Given the description of an element on the screen output the (x, y) to click on. 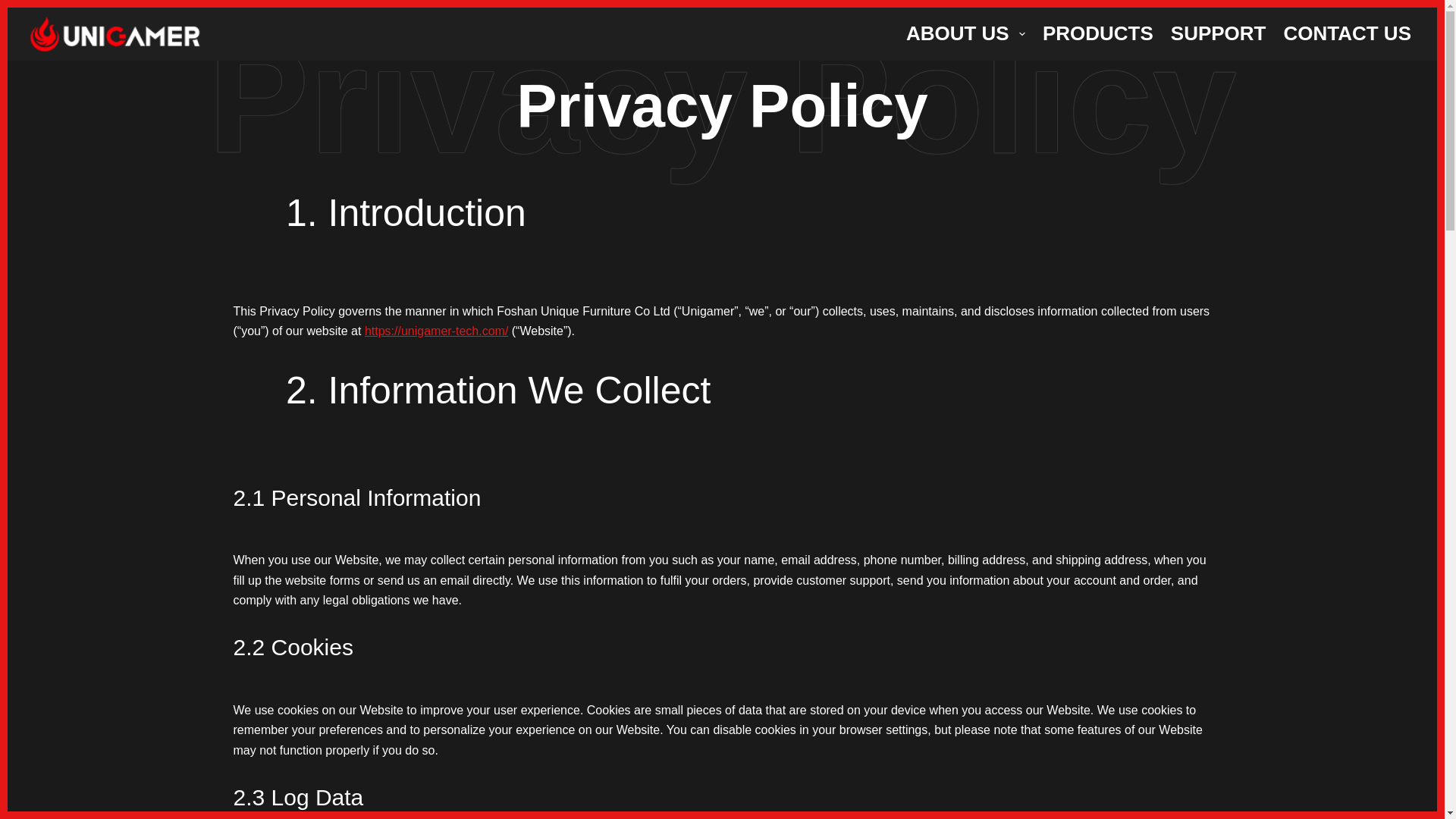
SUPPORT (1218, 33)
Warranty (852, 508)
About Us (641, 488)
OEM, ODM, IDH (662, 528)
PRODUCTS (1097, 33)
News (632, 548)
Cooperation (649, 508)
Downloads (858, 548)
Safety (633, 588)
Quality (636, 608)
